Given the description of an element on the screen output the (x, y) to click on. 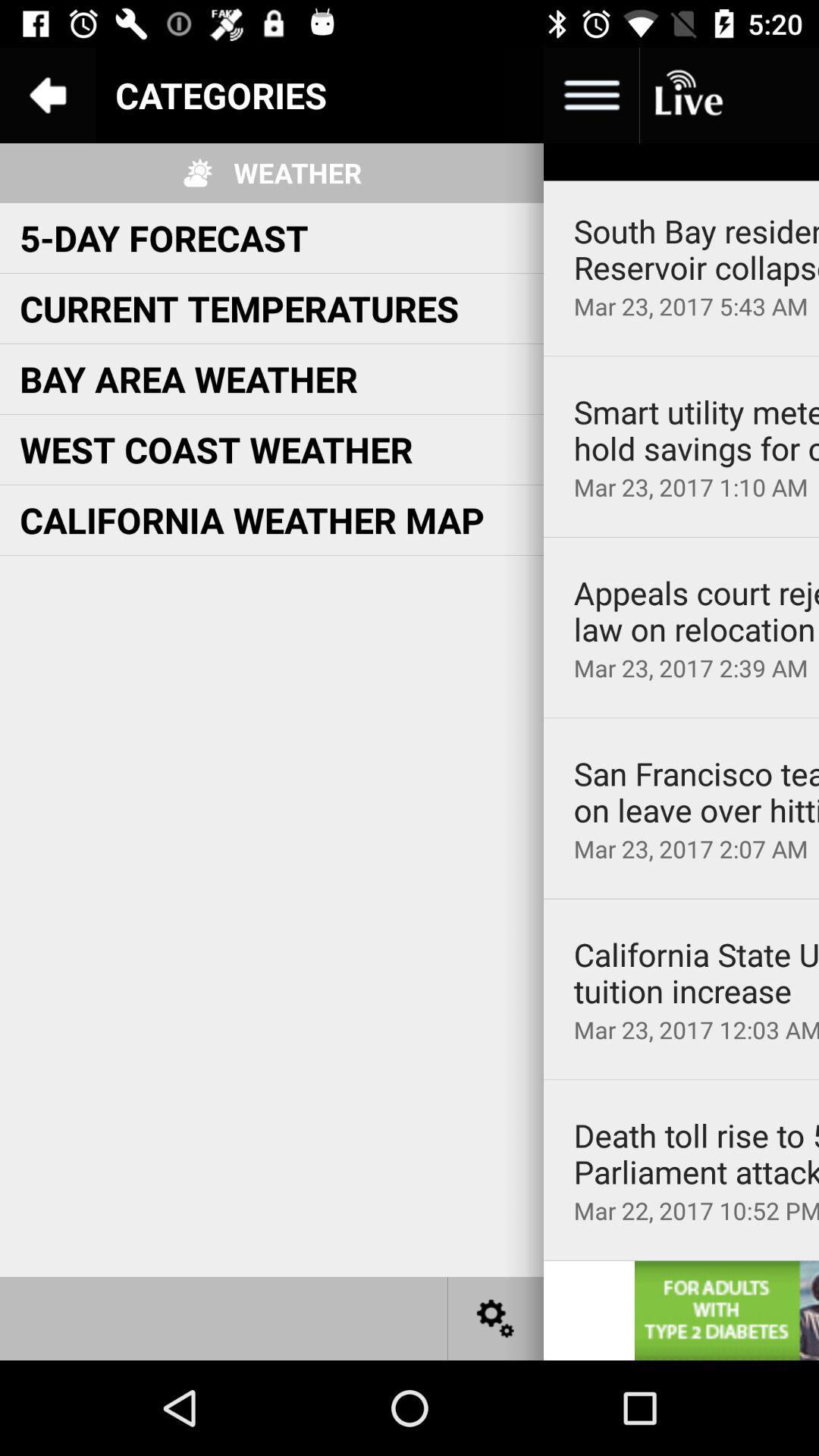
advertisement (726, 1310)
